Given the description of an element on the screen output the (x, y) to click on. 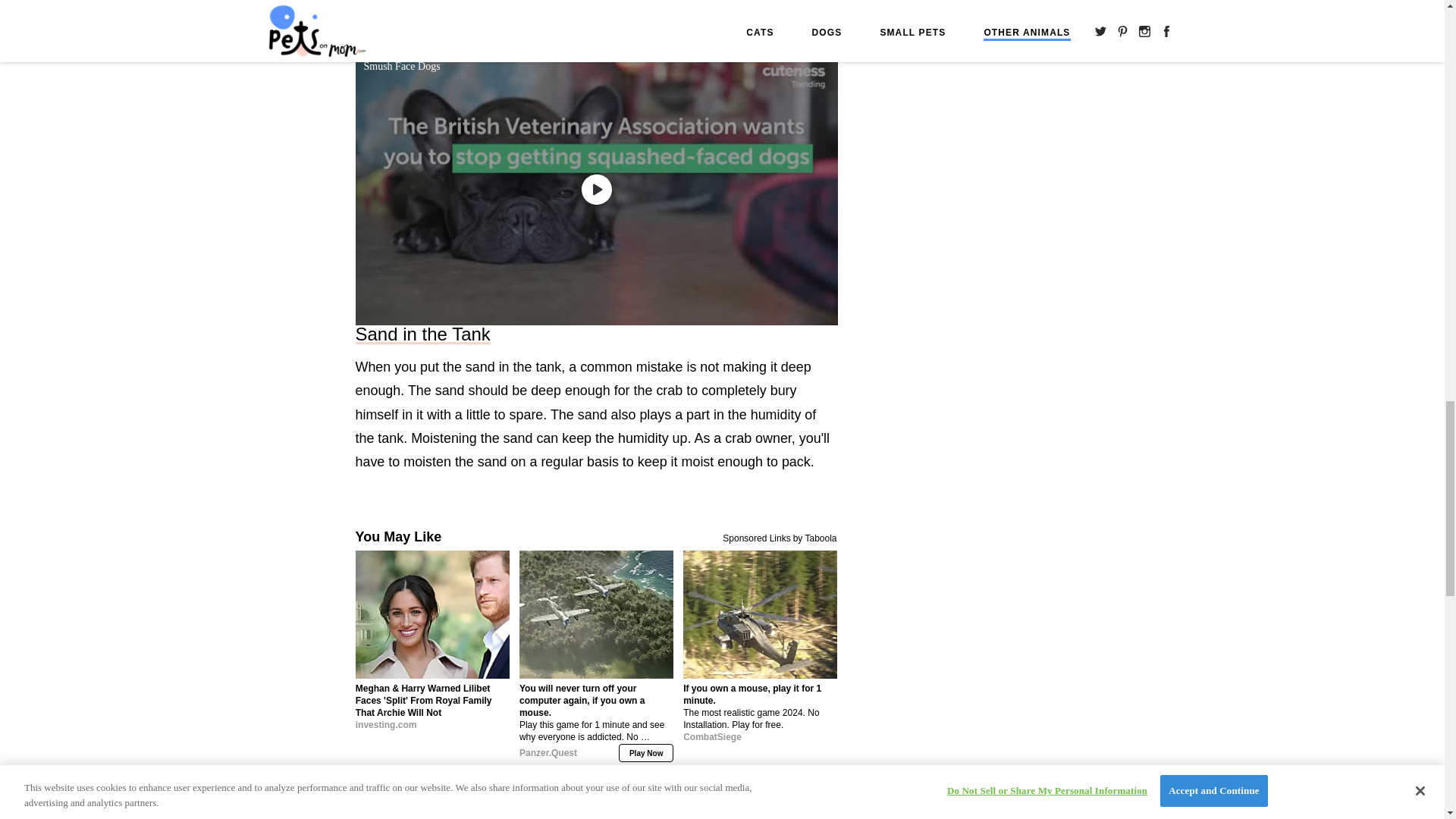
If you own a mouse, play it for 1 minute. (759, 732)
Sponsored Links (756, 536)
If you own a mouse, play it for 1 minute. (759, 614)
by Taboola (815, 536)
Play Now (645, 752)
